Given the description of an element on the screen output the (x, y) to click on. 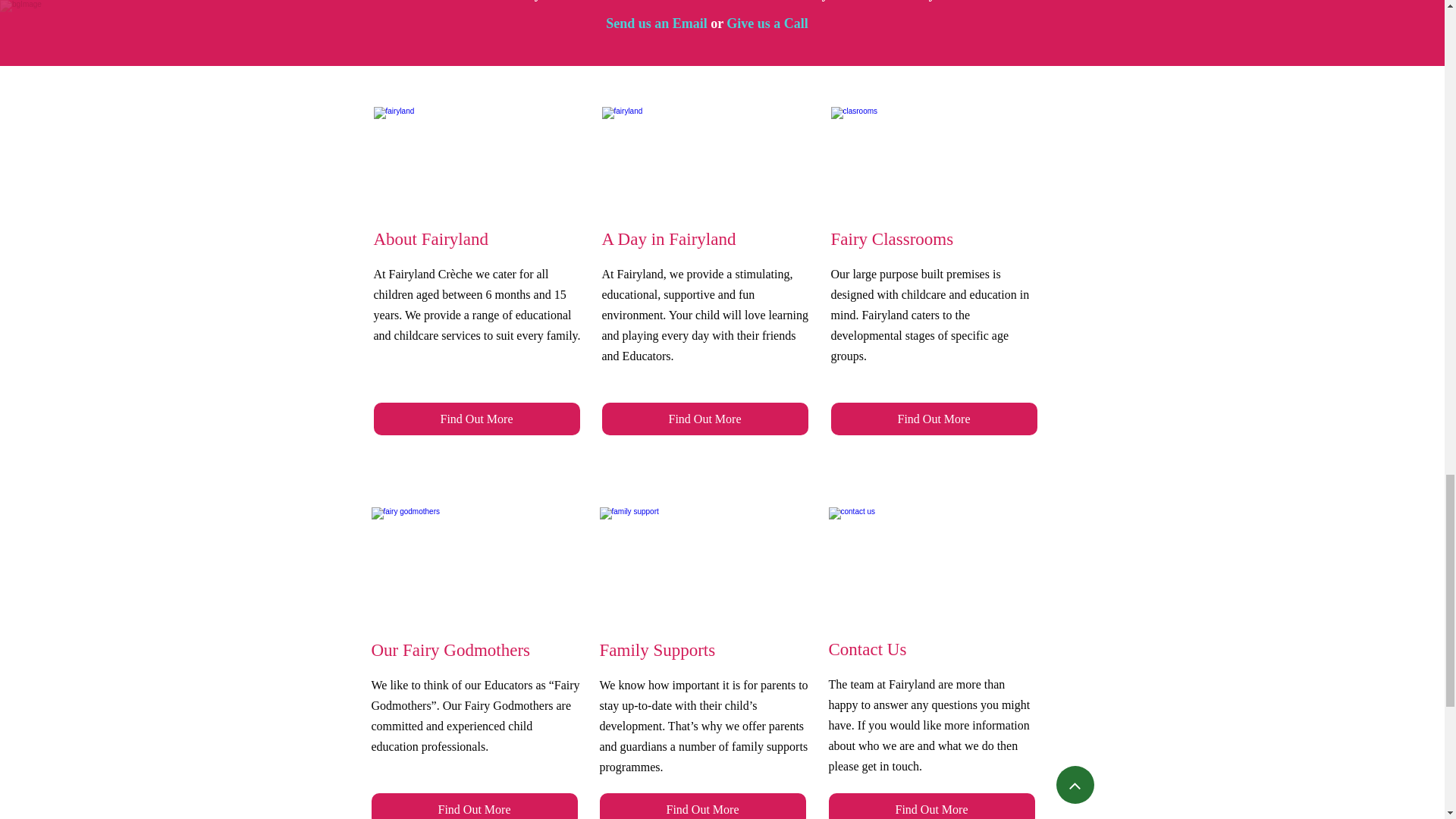
Give us a Call (767, 25)
Find Out More (933, 418)
Find Out More (705, 418)
Find Out More (475, 418)
Send us an Email (656, 25)
